Given the description of an element on the screen output the (x, y) to click on. 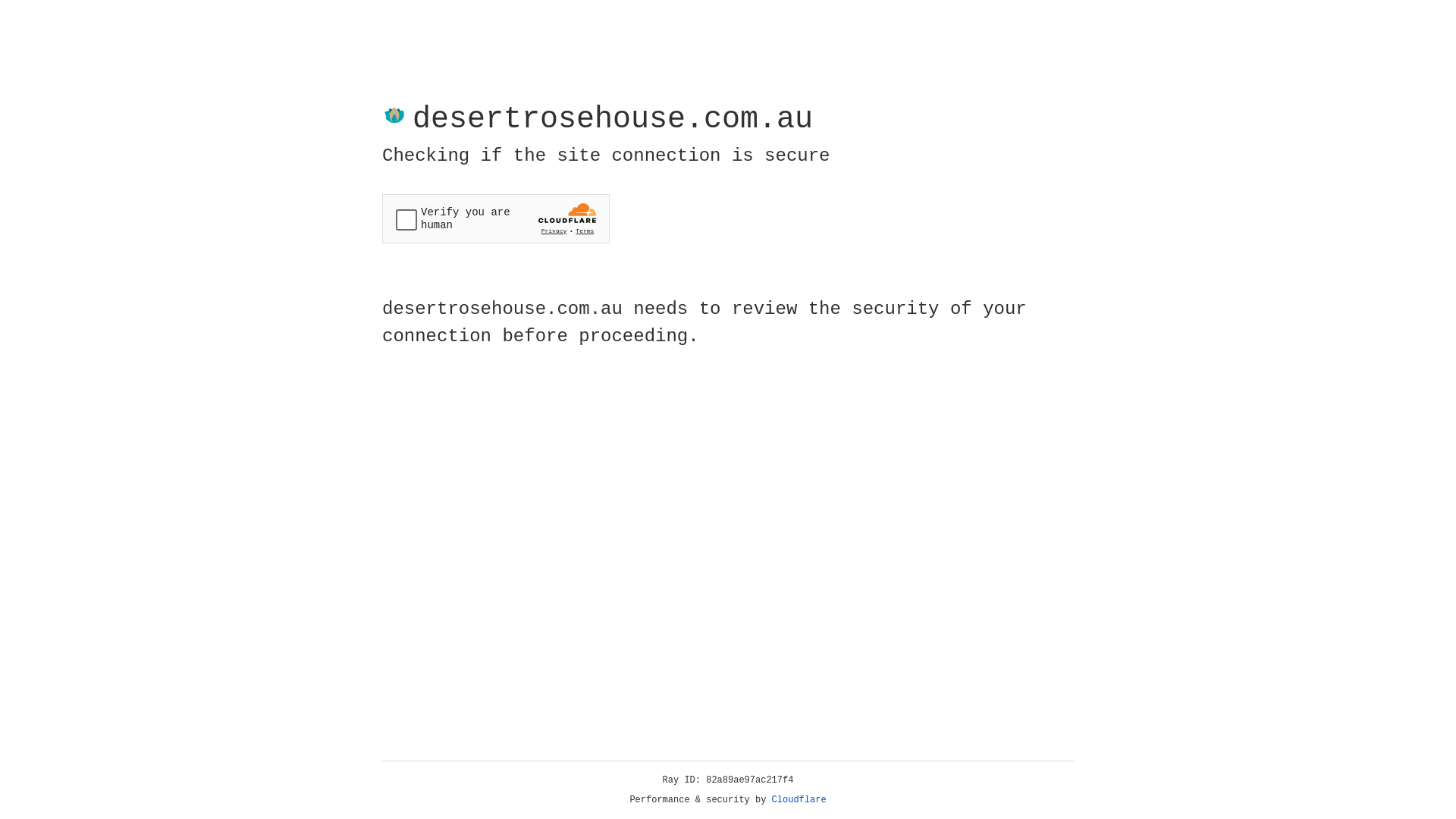
Cloudflare Element type: text (798, 799)
Widget containing a Cloudflare security challenge Element type: hover (495, 218)
